Given the description of an element on the screen output the (x, y) to click on. 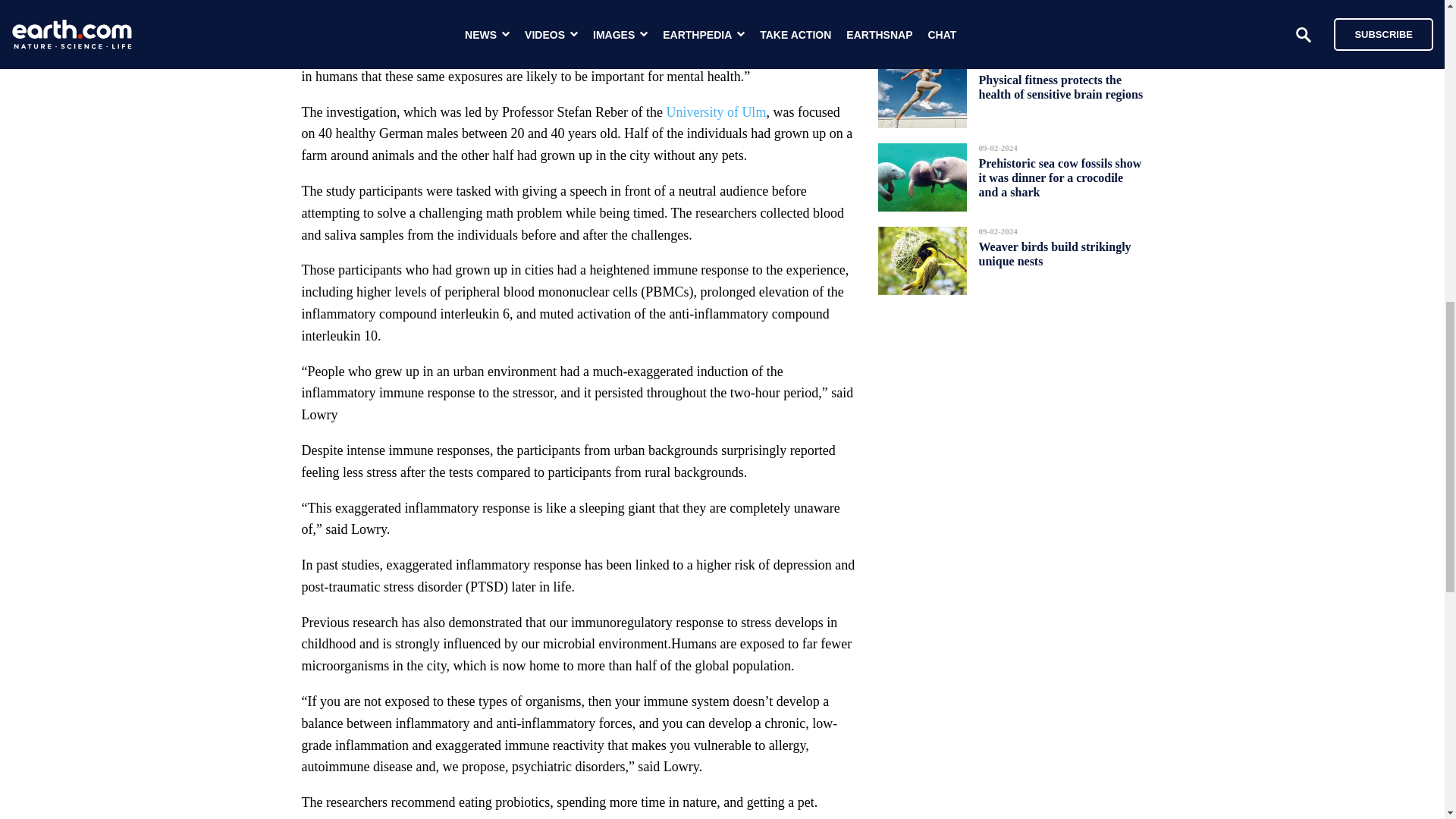
Weaver birds build strikingly unique nests (1054, 253)
University of Ulm (715, 111)
